Given the description of an element on the screen output the (x, y) to click on. 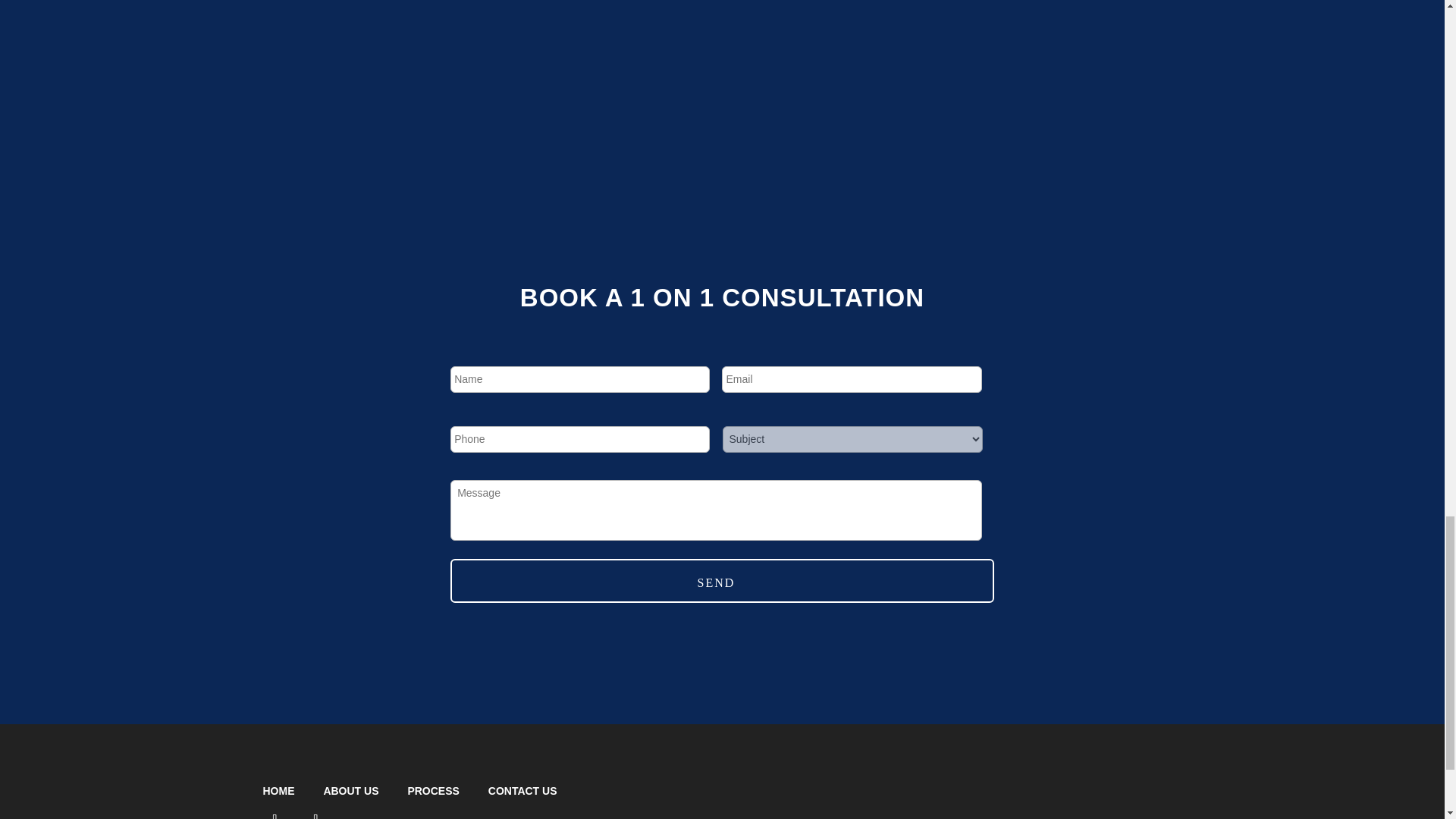
Send (716, 582)
Send (716, 582)
PROCESS (432, 790)
HOME (278, 790)
Follow on Facebook (274, 812)
ABOUT US (350, 790)
Follow on LinkedIn (314, 812)
CONTACT US (522, 790)
